Given the description of an element on the screen output the (x, y) to click on. 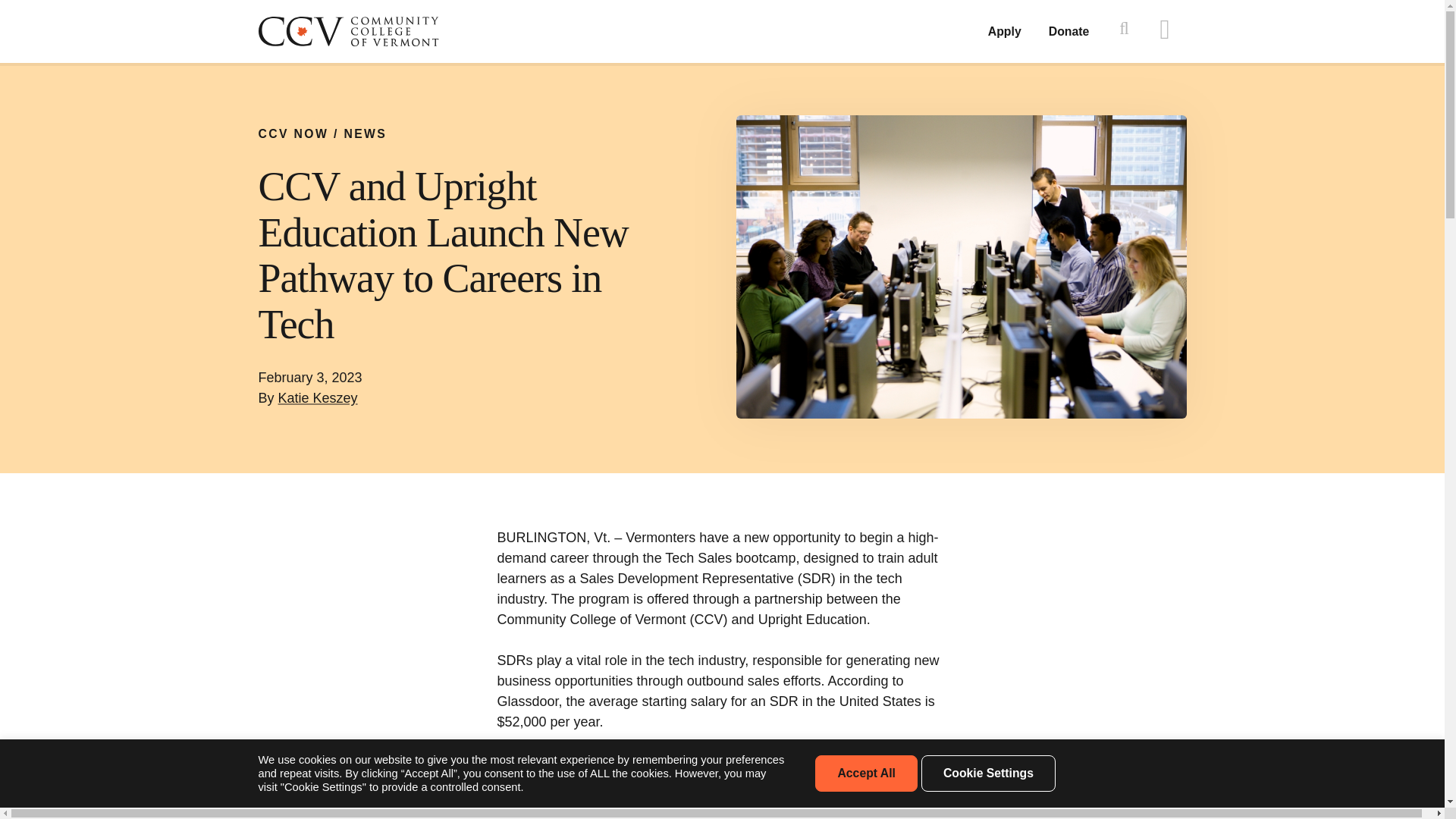
Apply (1005, 31)
Donate (1068, 31)
